Given the description of an element on the screen output the (x, y) to click on. 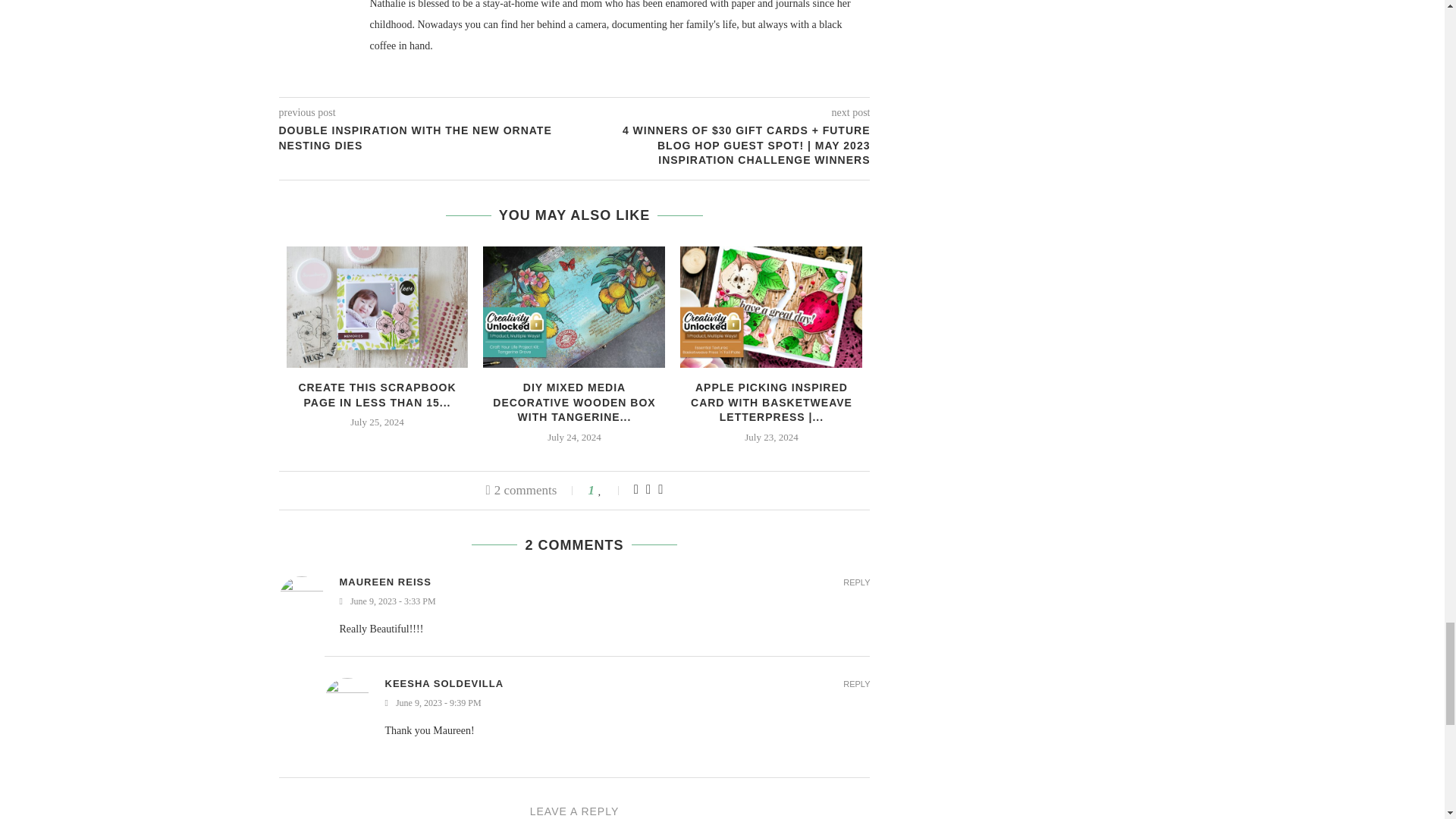
Create This Scrapbook Page in Less Than 15 Minutes! (377, 306)
Friday, June 9, 2023, 9:39 pm (627, 703)
Like (610, 489)
Friday, June 9, 2023, 3:33 pm (604, 601)
